Given the description of an element on the screen output the (x, y) to click on. 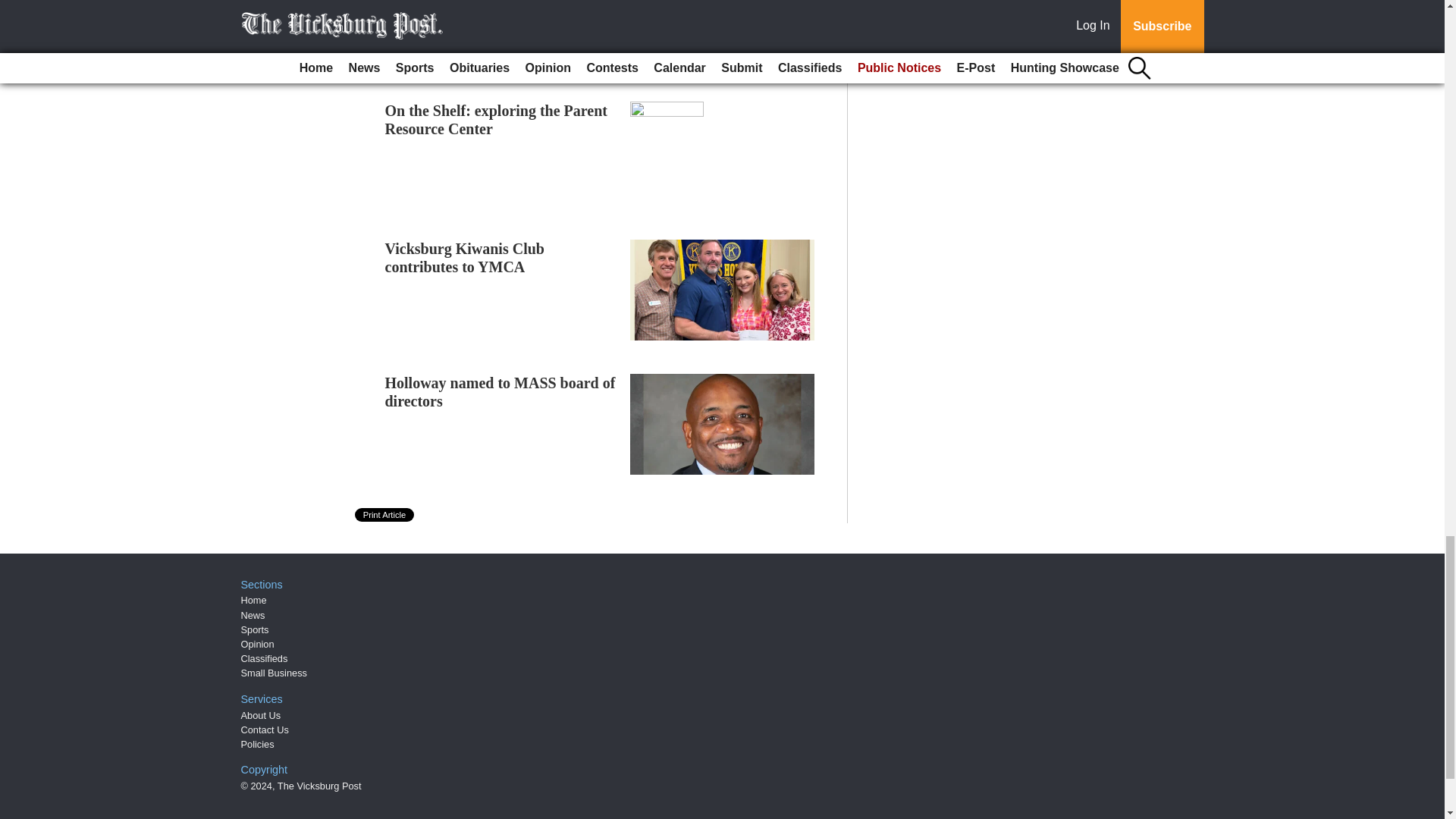
Vicksburg Kiwanis Club contributes to YMCA (464, 257)
Holloway named to MASS board of directors (500, 391)
On the Shelf: exploring the Parent Resource Center (496, 119)
On the Shelf: exploring the Parent Resource Center (496, 119)
Vicksburg Kiwanis Club contributes to YMCA (464, 257)
